Given the description of an element on the screen output the (x, y) to click on. 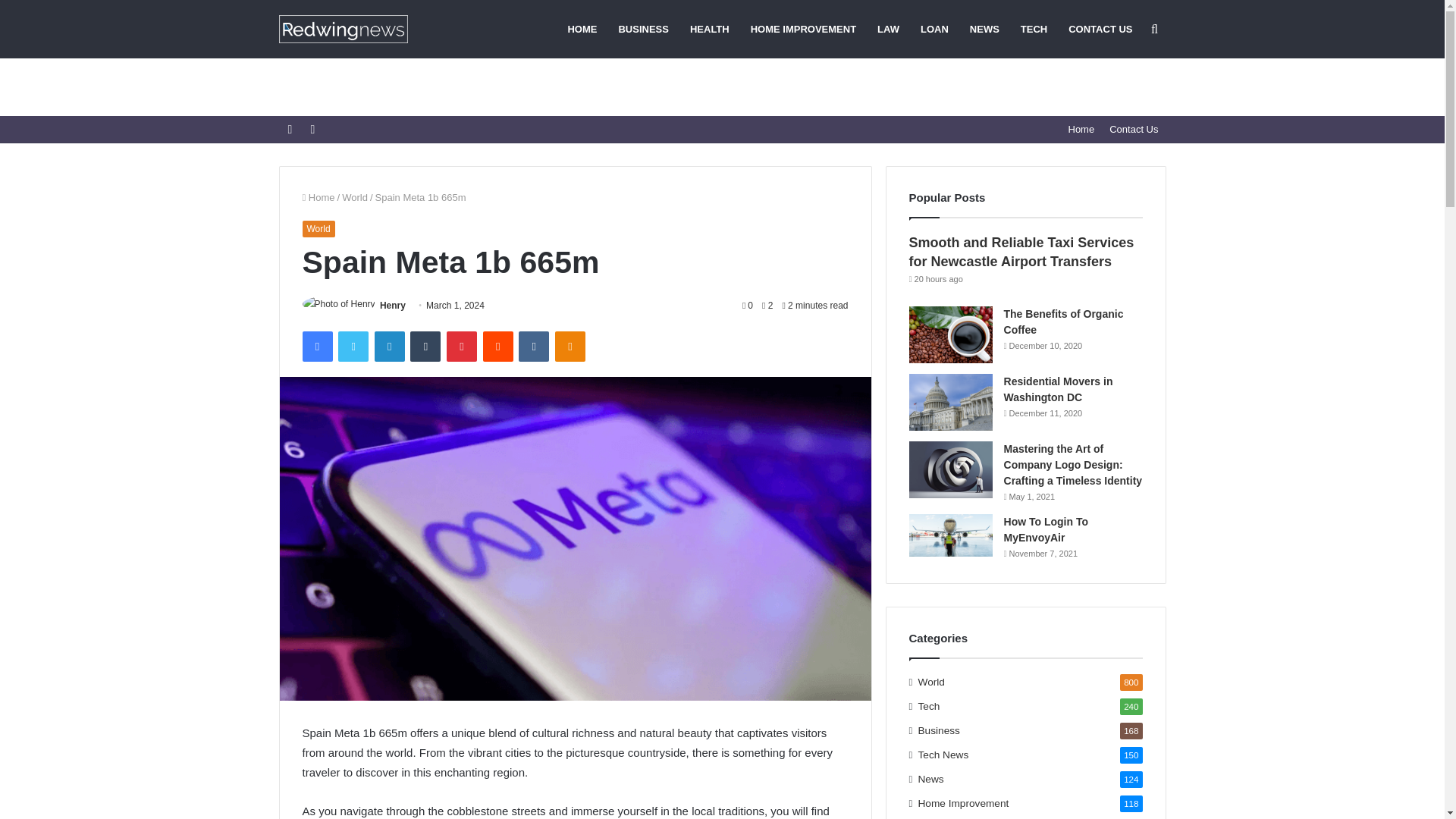
Red Wing News (343, 29)
LinkedIn (389, 346)
HEALTH (709, 29)
LinkedIn (389, 346)
Twitter (352, 346)
Odnoklassniki (569, 346)
Henry (393, 305)
Twitter (352, 346)
World (317, 228)
Pinterest (461, 346)
Facebook (316, 346)
Facebook (316, 346)
Pinterest (461, 346)
World (355, 197)
Henry (393, 305)
